Given the description of an element on the screen output the (x, y) to click on. 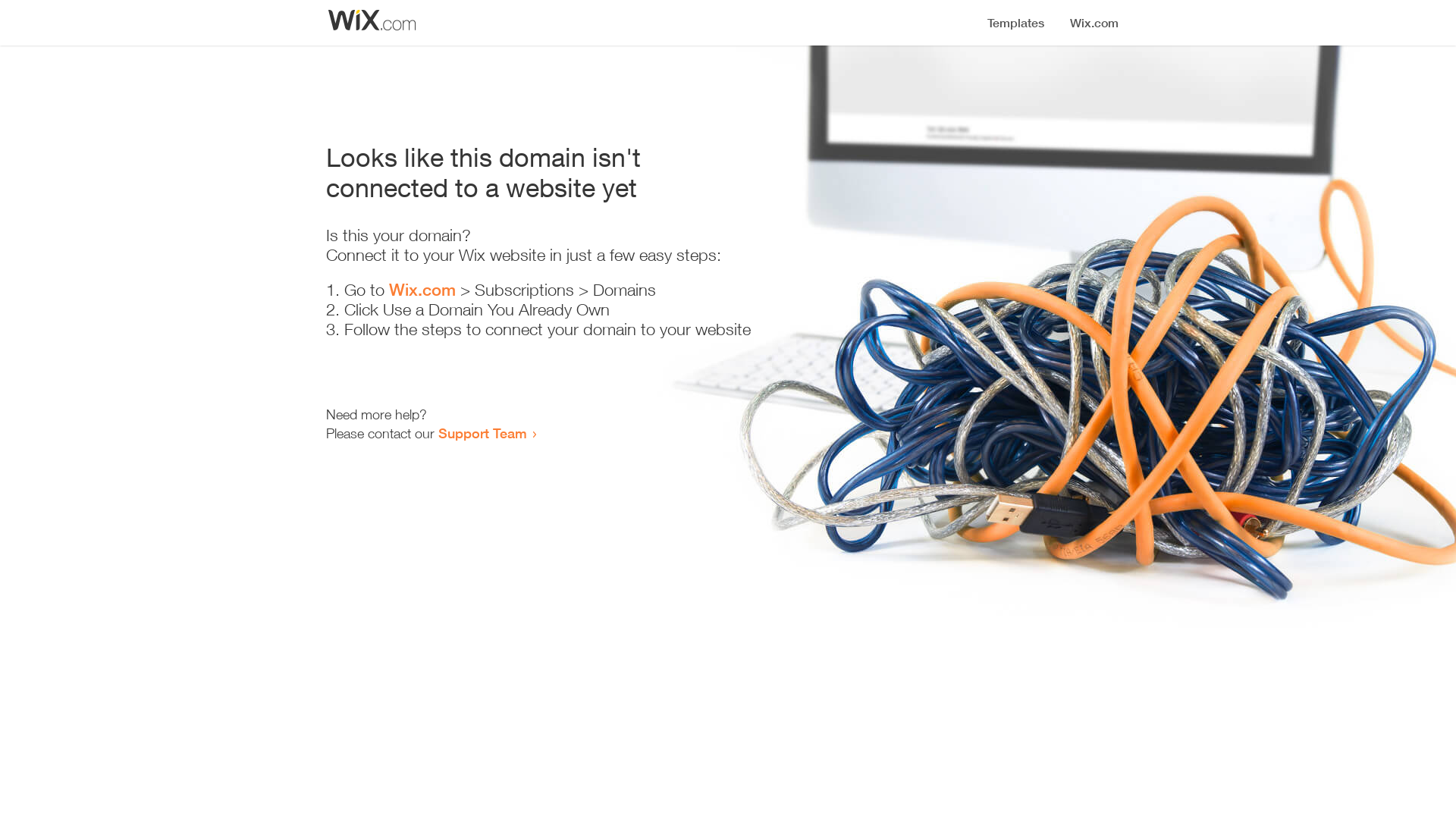
Wix.com Element type: text (422, 289)
Support Team Element type: text (482, 432)
